Given the description of an element on the screen output the (x, y) to click on. 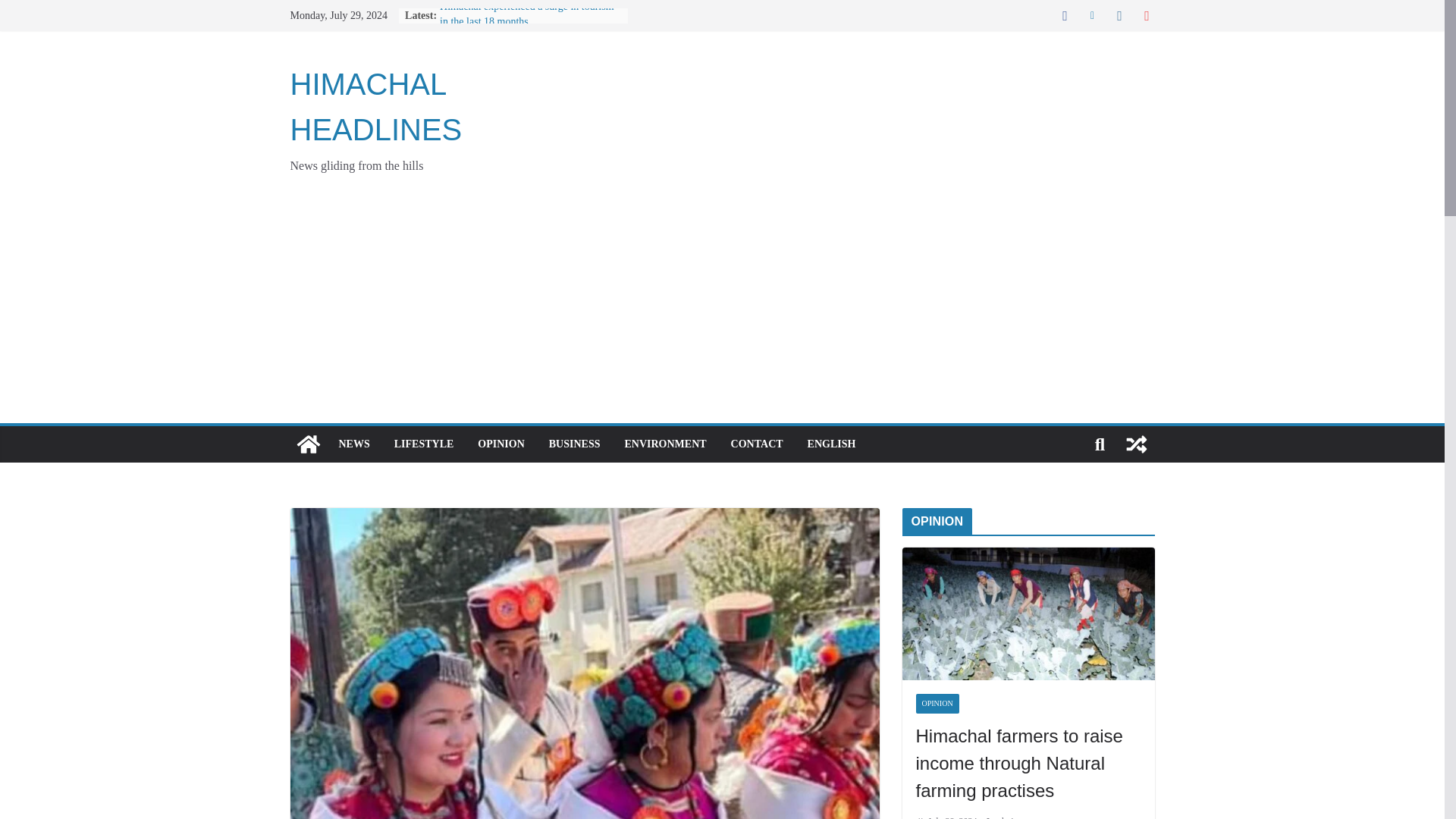
HIMACHAL HEADLINES (375, 106)
BUSINESS (573, 444)
English (832, 444)
ENVIRONMENT (665, 444)
NEWS (353, 444)
HIMACHAL HEADLINES (375, 106)
CONTACT (756, 444)
OPINION (500, 444)
View a random post (1136, 443)
HIMACHAL HEADLINES (307, 443)
LIFESTYLE (424, 444)
